Given the description of an element on the screen output the (x, y) to click on. 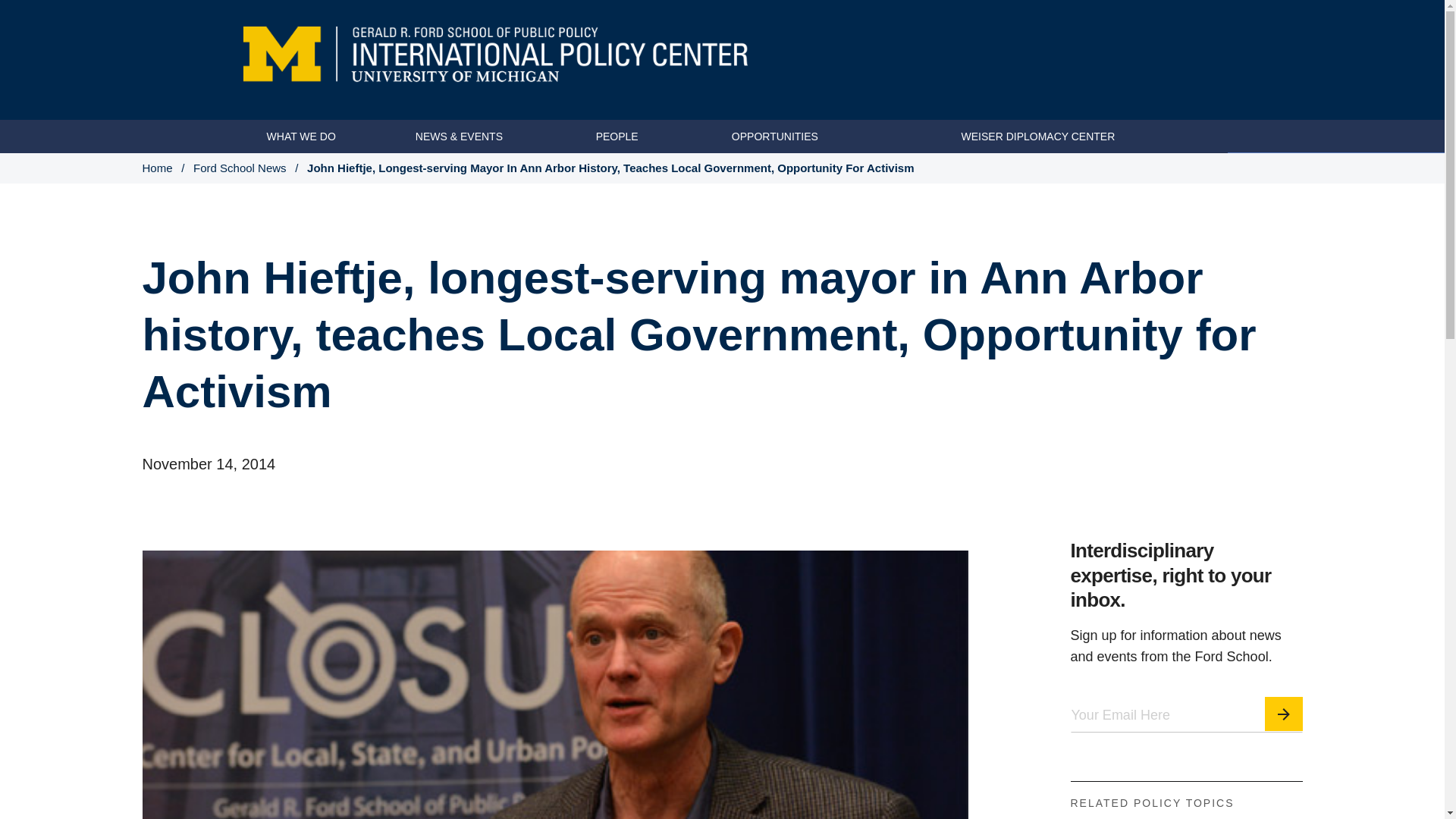
Ford School News (239, 167)
Subscribe (1284, 713)
WEISER DIPLOMACY CENTER (1037, 136)
OPPORTUNITIES (775, 136)
WHAT WE DO (301, 136)
PEOPLE (617, 136)
Home (157, 167)
